Given the description of an element on the screen output the (x, y) to click on. 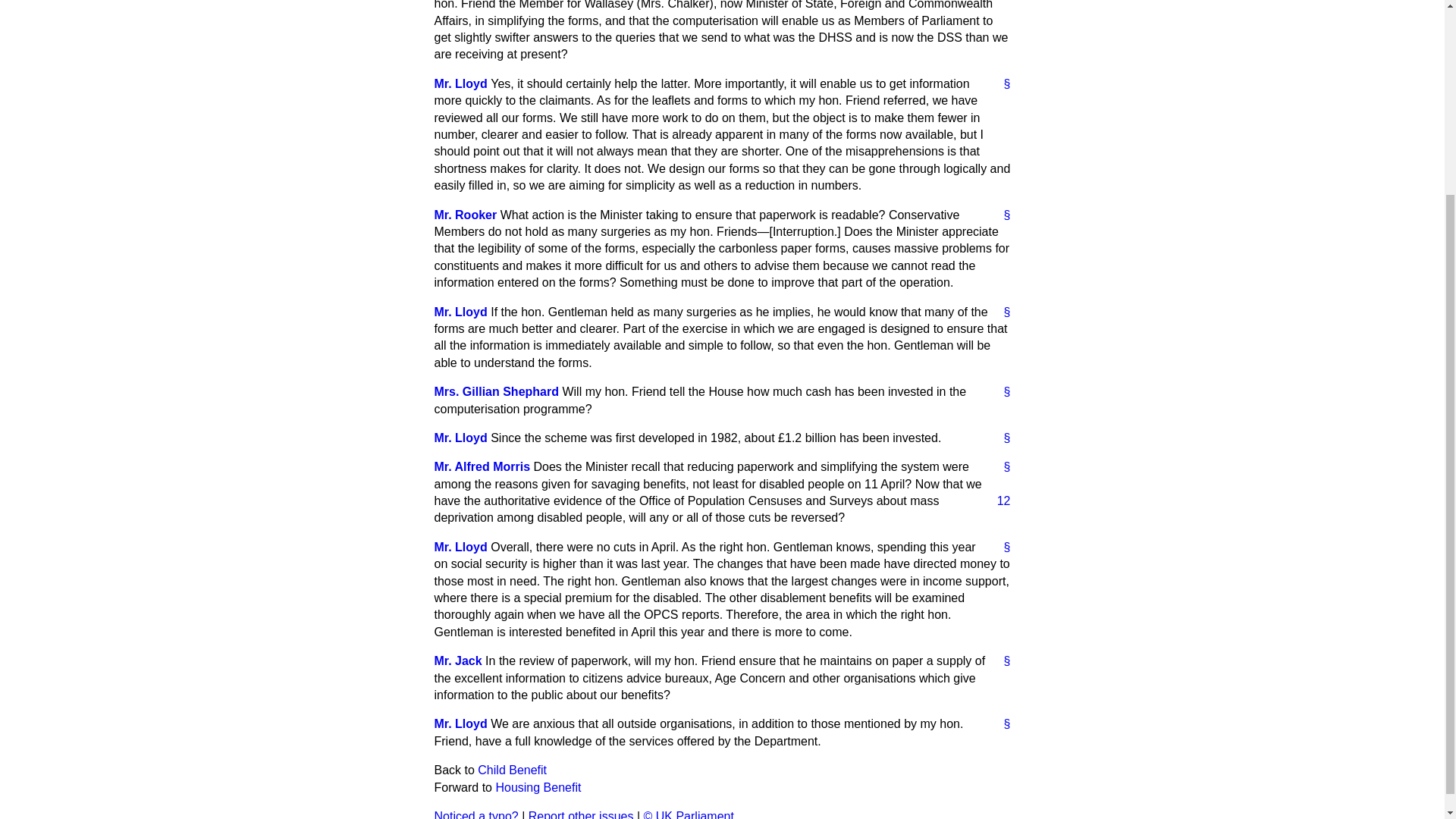
Mr. Alfred Morris (481, 466)
Link to this speech by Sir Peter Lloyd (1000, 84)
Mr Jeff Rooker (464, 214)
Link to this speech by Sir Peter Lloyd (1000, 437)
Mr. Lloyd (459, 437)
Mrs Gillian Shephard (495, 391)
Sir Peter Lloyd (459, 83)
Link to this speech by Mr Jeff Rooker (1000, 215)
Link to this speech by Sir Peter Lloyd (1000, 312)
Mr. Lloyd (459, 83)
Link to this speech by Mr Alf Morris (1000, 466)
Link to this speech by Mrs Gillian Shephard (1000, 392)
12 (997, 501)
Mrs. Gillian Shephard (495, 391)
Sir Peter Lloyd (459, 437)
